Given the description of an element on the screen output the (x, y) to click on. 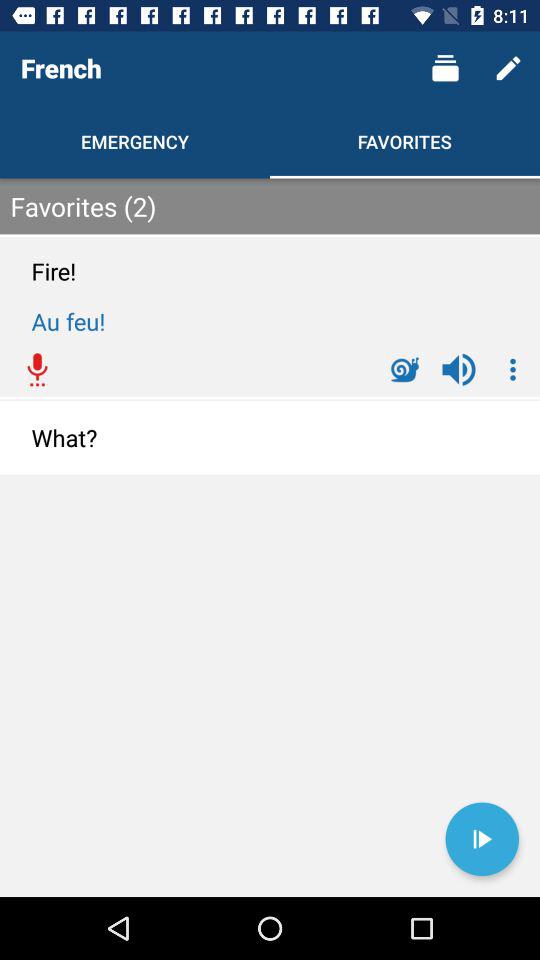
press icon at the bottom right corner (482, 839)
